Given the description of an element on the screen output the (x, y) to click on. 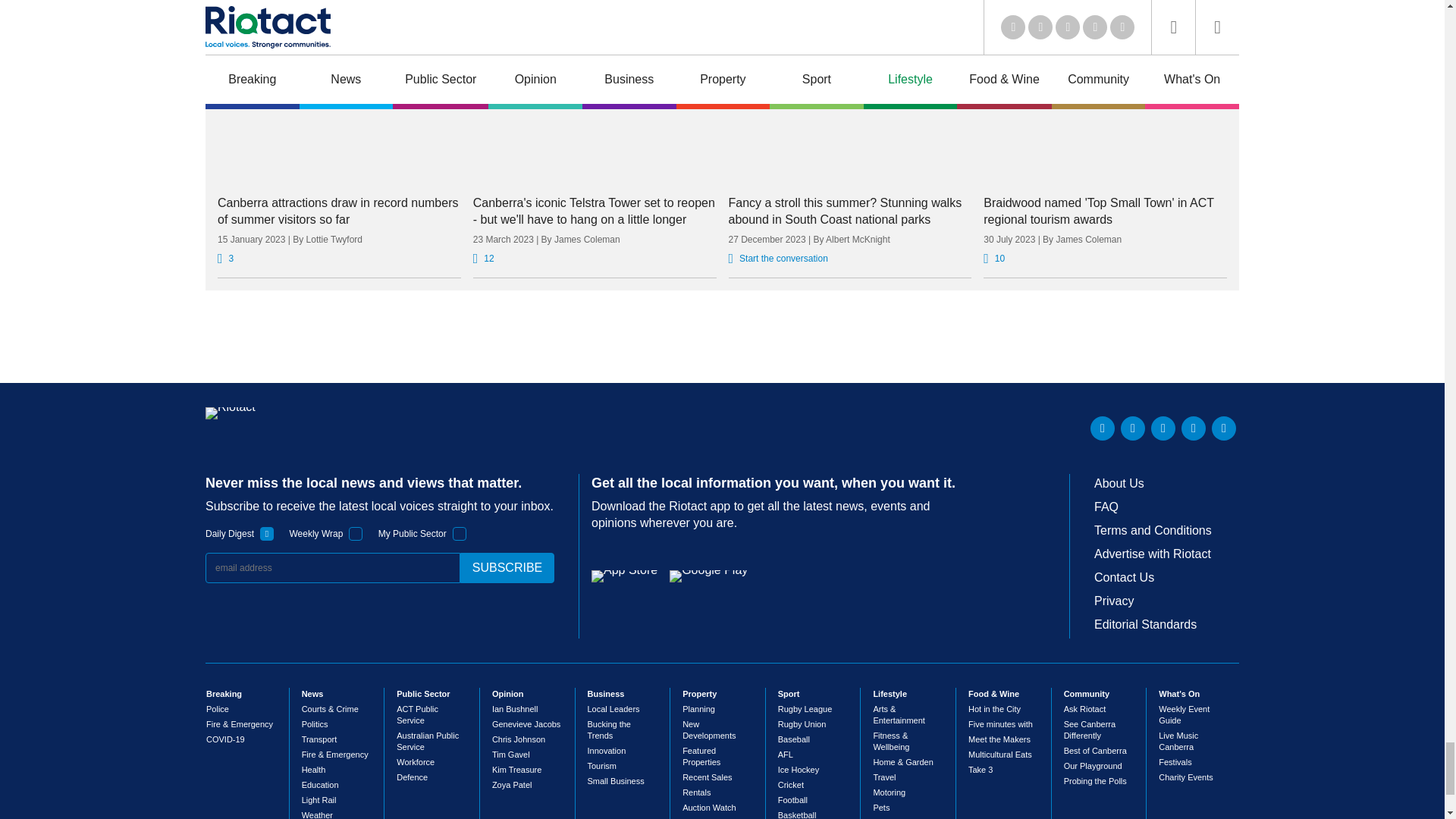
LinkedIn (1102, 428)
1 (266, 533)
subscribe (507, 567)
Twitter (1132, 428)
1 (355, 533)
1 (458, 533)
